Given the description of an element on the screen output the (x, y) to click on. 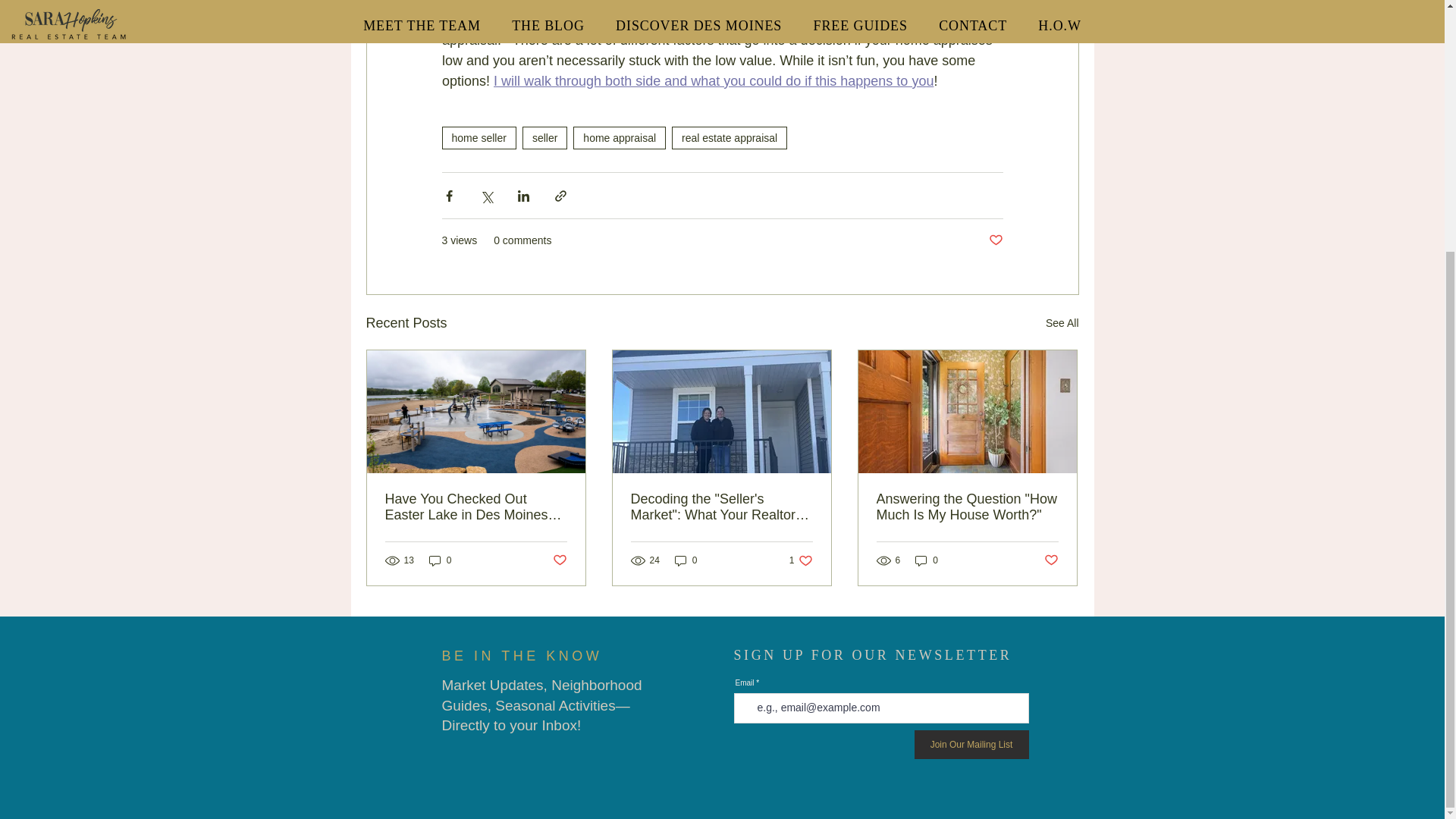
Post not marked as liked (558, 560)
Have You Checked Out Easter Lake in Des Moines Recently? (476, 507)
See All (1061, 323)
real estate appraisal (800, 560)
0 (729, 137)
Answering the Question "How Much Is My House Worth?" (926, 560)
home seller (967, 507)
Join Our Mailing List (478, 137)
seller (971, 744)
0 (544, 137)
Post not marked as liked (685, 560)
0 (995, 240)
